Given the description of an element on the screen output the (x, y) to click on. 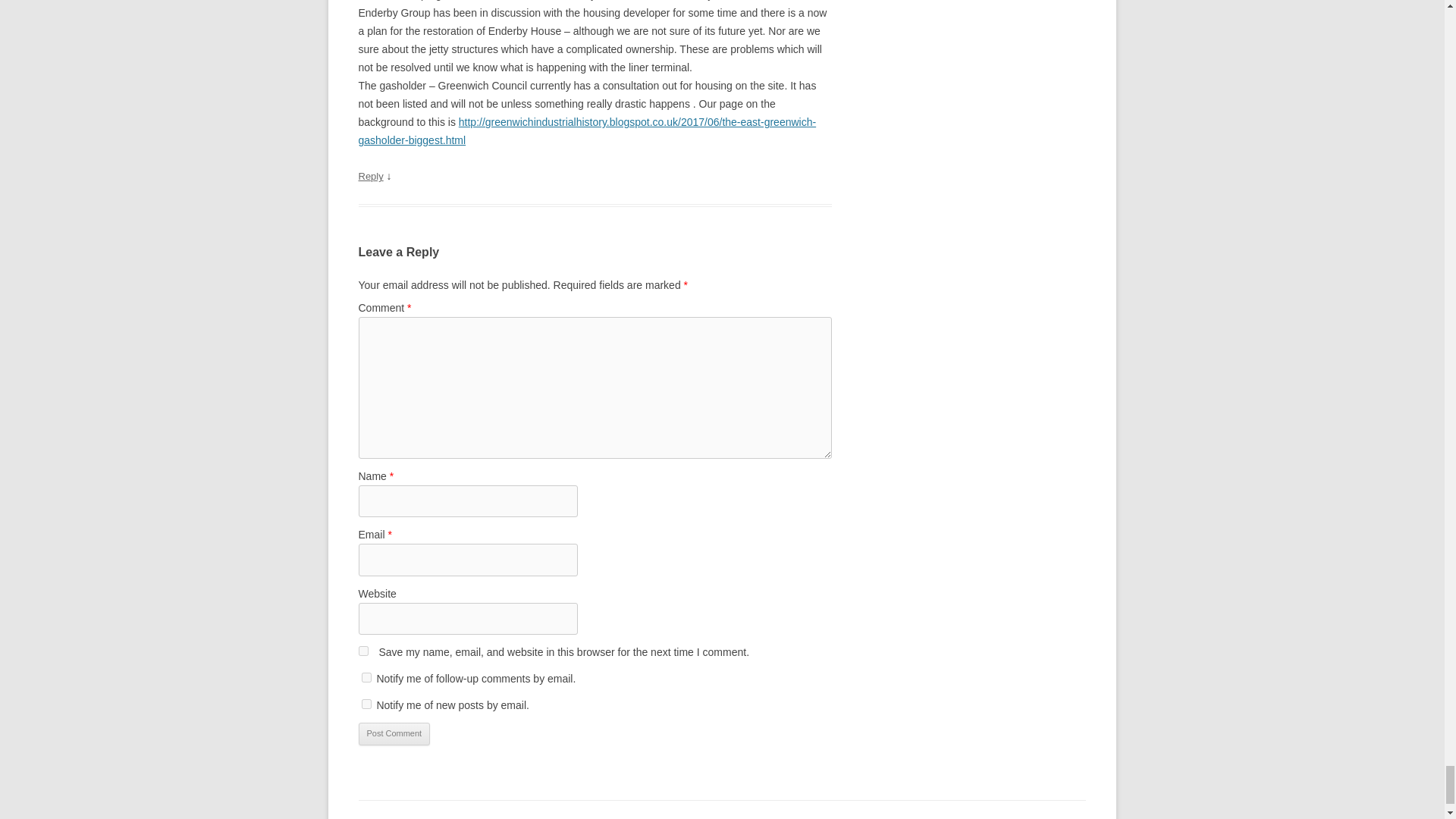
subscribe (366, 677)
yes (363, 651)
Post Comment (393, 733)
subscribe (366, 704)
